Given the description of an element on the screen output the (x, y) to click on. 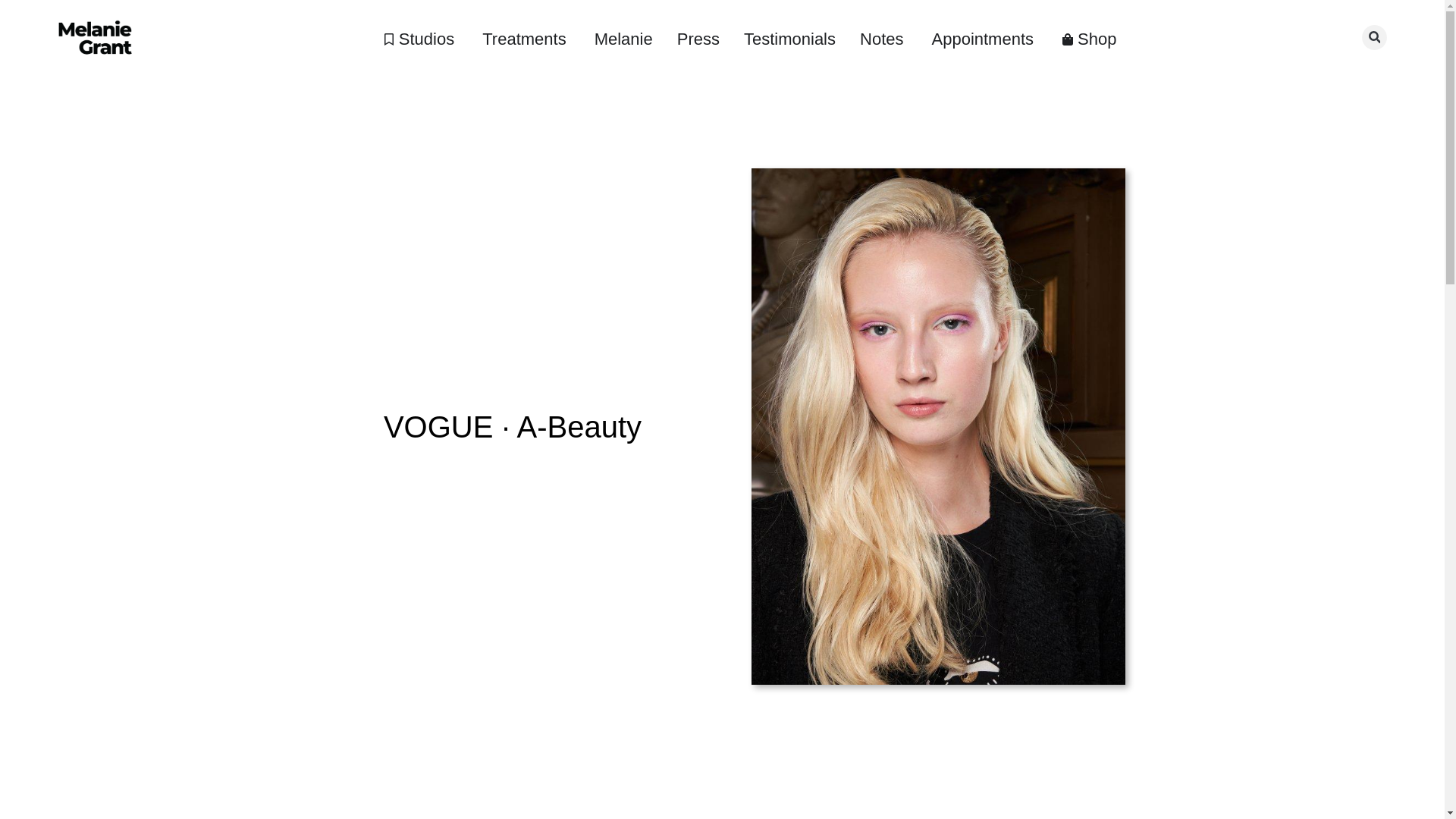
Press (698, 38)
Testimonials (789, 38)
Melanie (623, 38)
Treatments (523, 38)
